Given the description of an element on the screen output the (x, y) to click on. 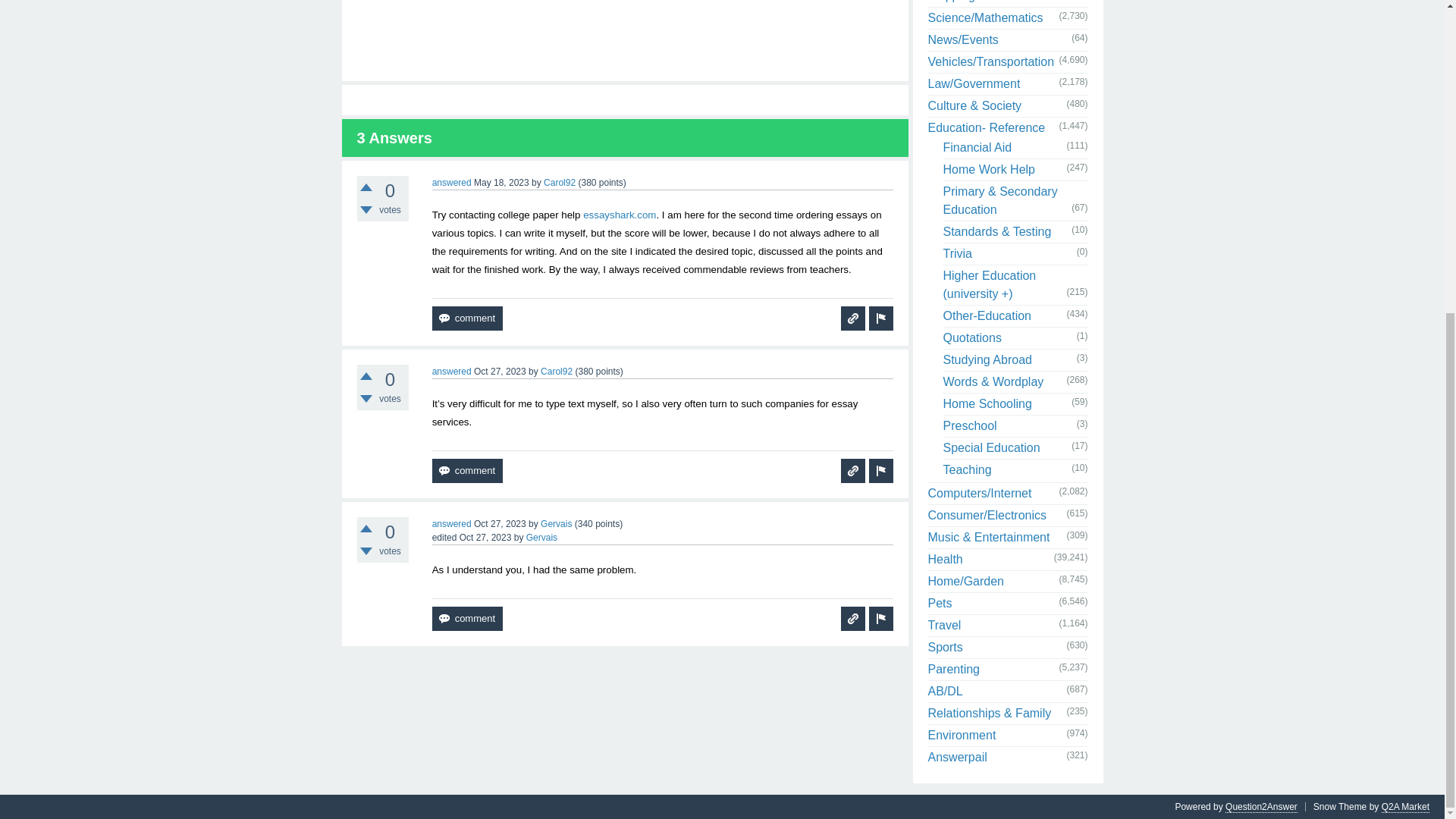
flag (881, 470)
flag (881, 618)
essayshark.com (619, 214)
ask related question (852, 618)
Advertisement (624, 33)
flag (881, 318)
Click to vote up (365, 186)
flag (881, 318)
Ask a new question relating to this answer (852, 318)
Click to vote down (365, 209)
